Given the description of an element on the screen output the (x, y) to click on. 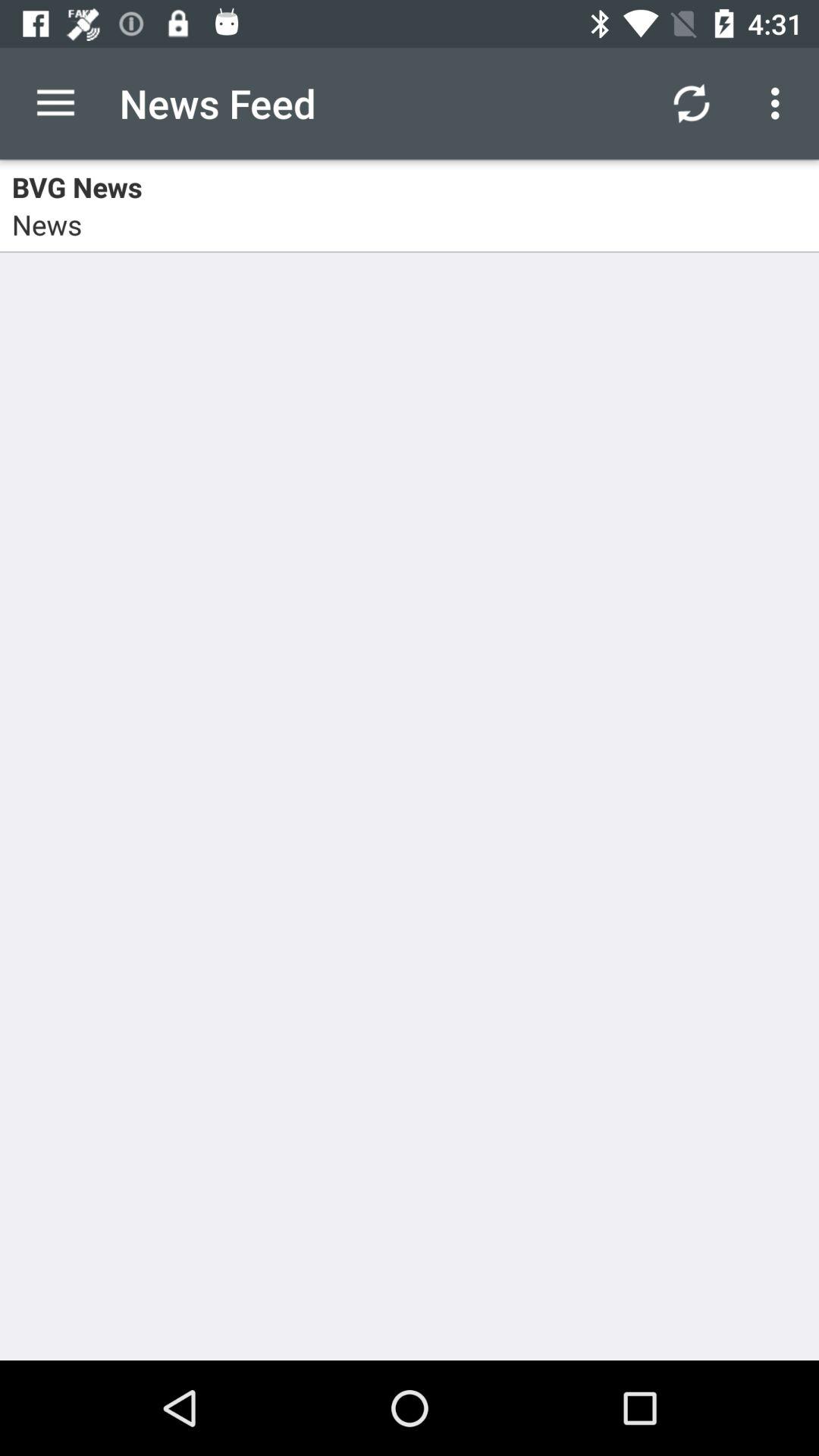
launch item above the bvg news app (691, 103)
